Given the description of an element on the screen output the (x, y) to click on. 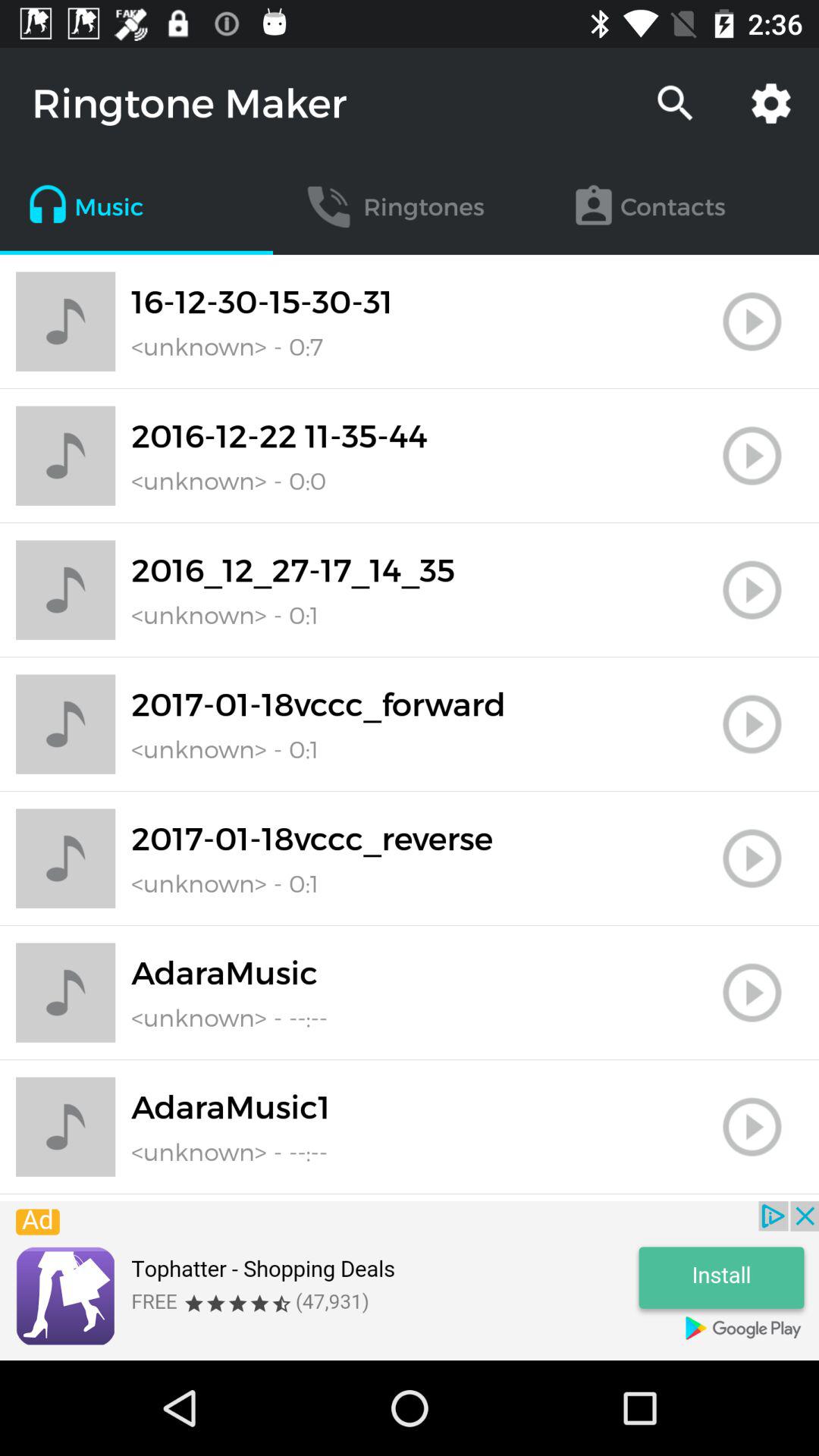
play button (752, 858)
